Given the description of an element on the screen output the (x, y) to click on. 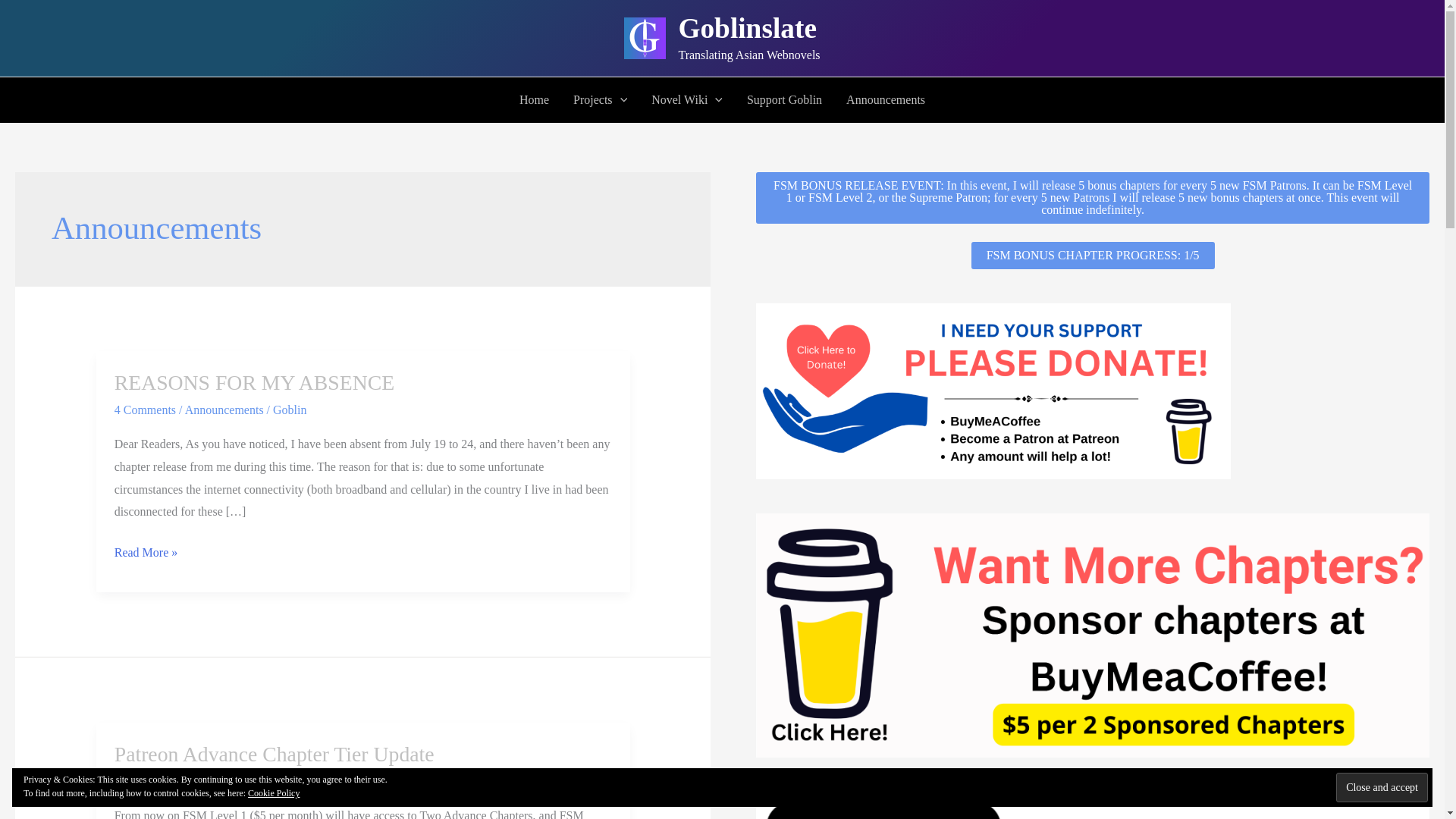
Home (533, 99)
Support Goblin (784, 99)
Goblinslate (747, 28)
Close and accept (1382, 787)
Announcements (885, 99)
Projects (599, 99)
View all posts by Goblin (289, 409)
Novel Wiki (687, 99)
View all posts by Goblin (316, 780)
